Given the description of an element on the screen output the (x, y) to click on. 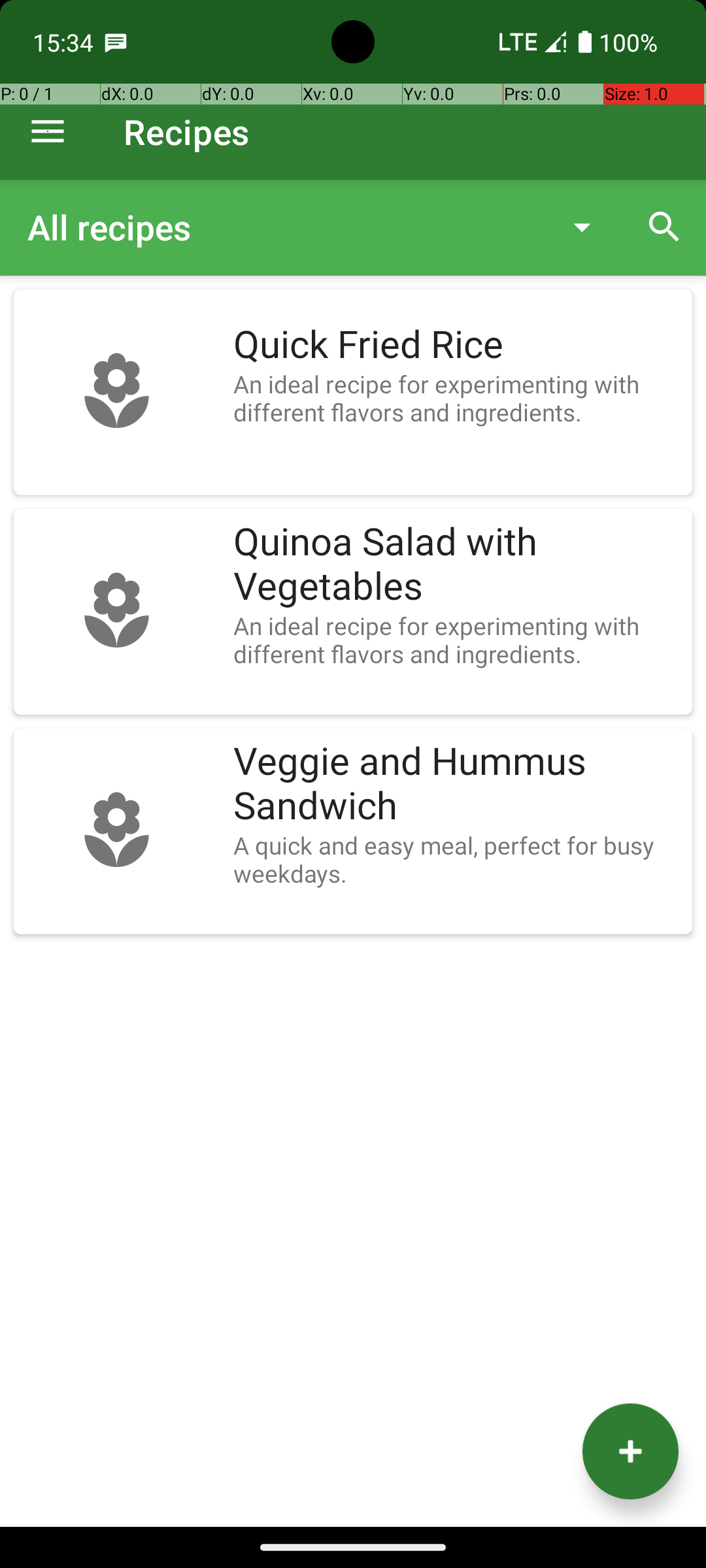
Veggie and Hummus Sandwich Element type: android.widget.TextView (455, 783)
